Given the description of an element on the screen output the (x, y) to click on. 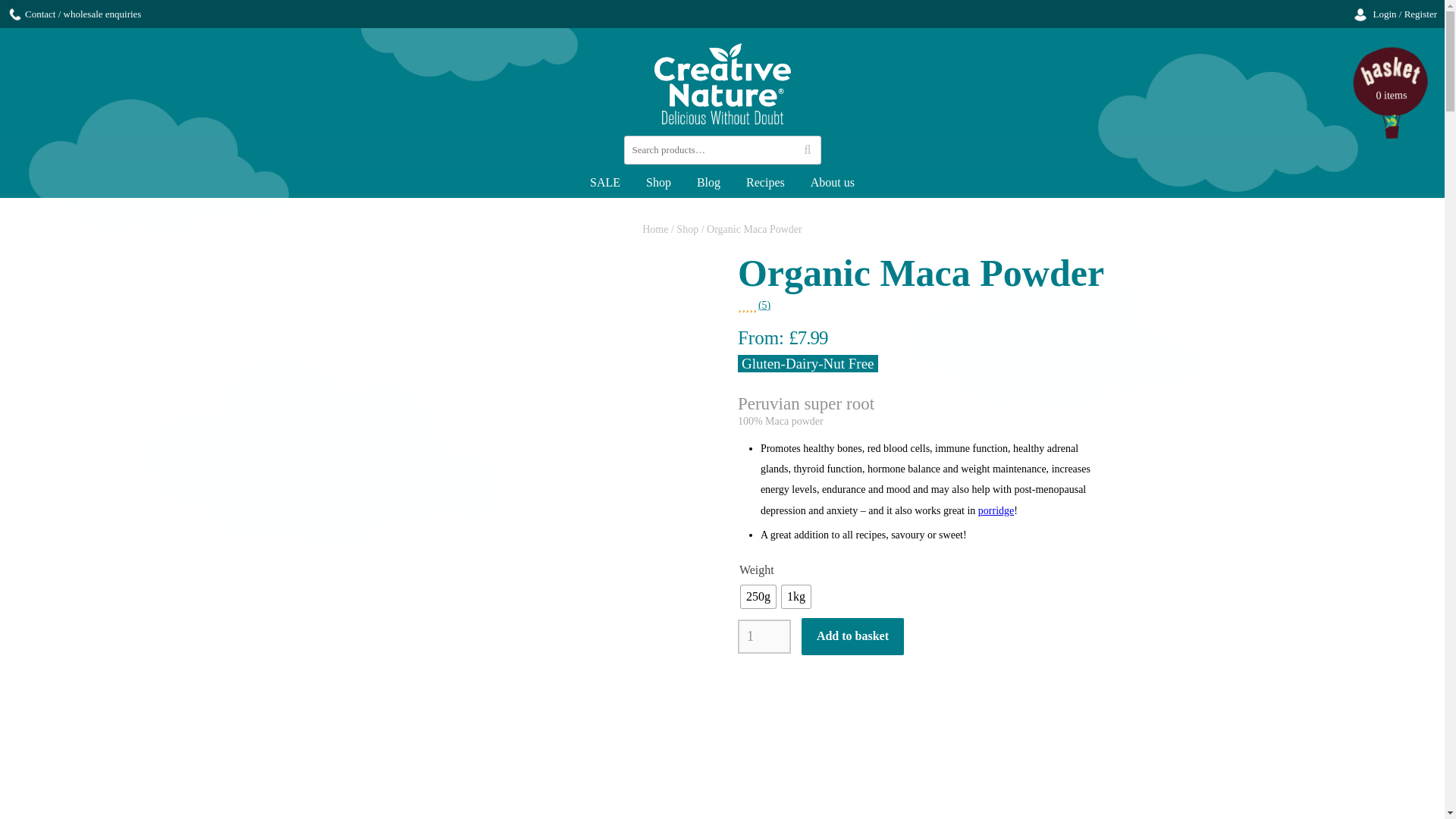
Shop (658, 181)
Recipes (765, 181)
250g (758, 596)
View your shopping cart (1390, 79)
Search (806, 149)
0 items (1391, 83)
Blog (708, 181)
1 (764, 636)
SALE (604, 181)
1kg (795, 596)
